Given the description of an element on the screen output the (x, y) to click on. 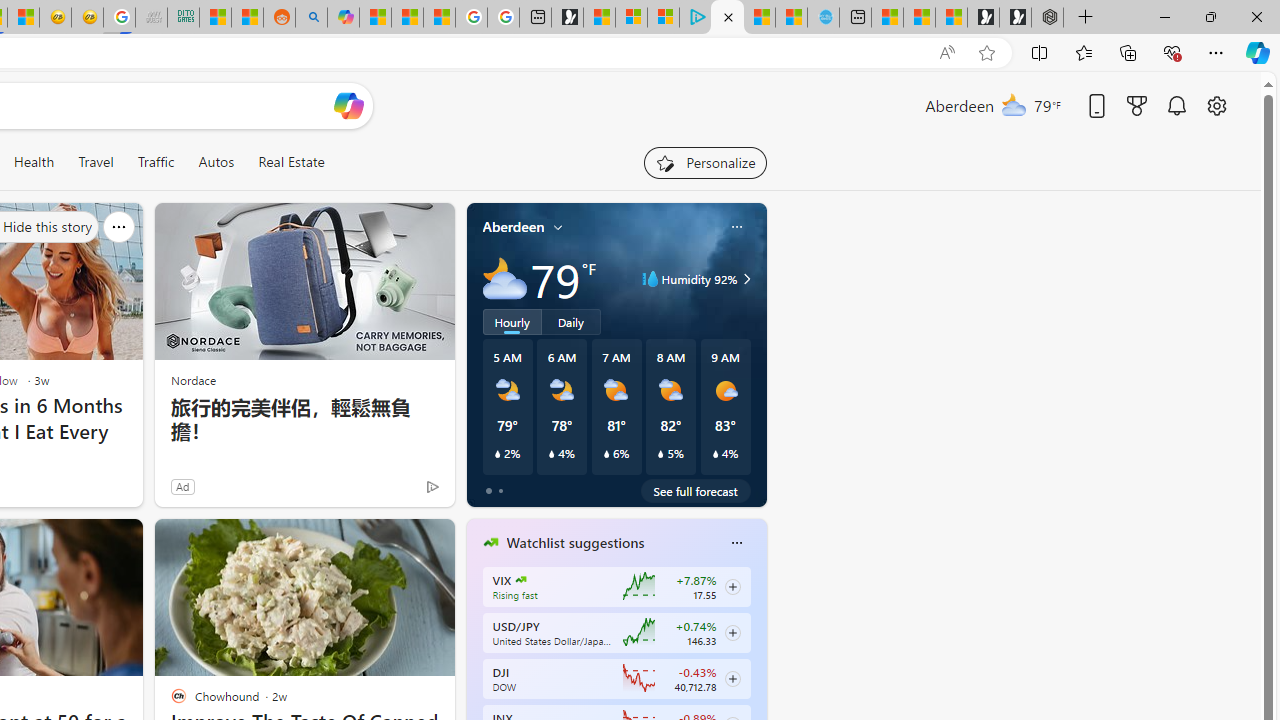
next (756, 670)
Microsoft Start Gaming (566, 17)
Aberdeen (513, 227)
Nordace (193, 380)
Favorites (1083, 52)
Class: follow-button  m (732, 678)
Travel (95, 162)
Health (33, 162)
New Tab (1085, 17)
Home | Sky Blue Bikes - Sky Blue Bikes (822, 17)
